Given the description of an element on the screen output the (x, y) to click on. 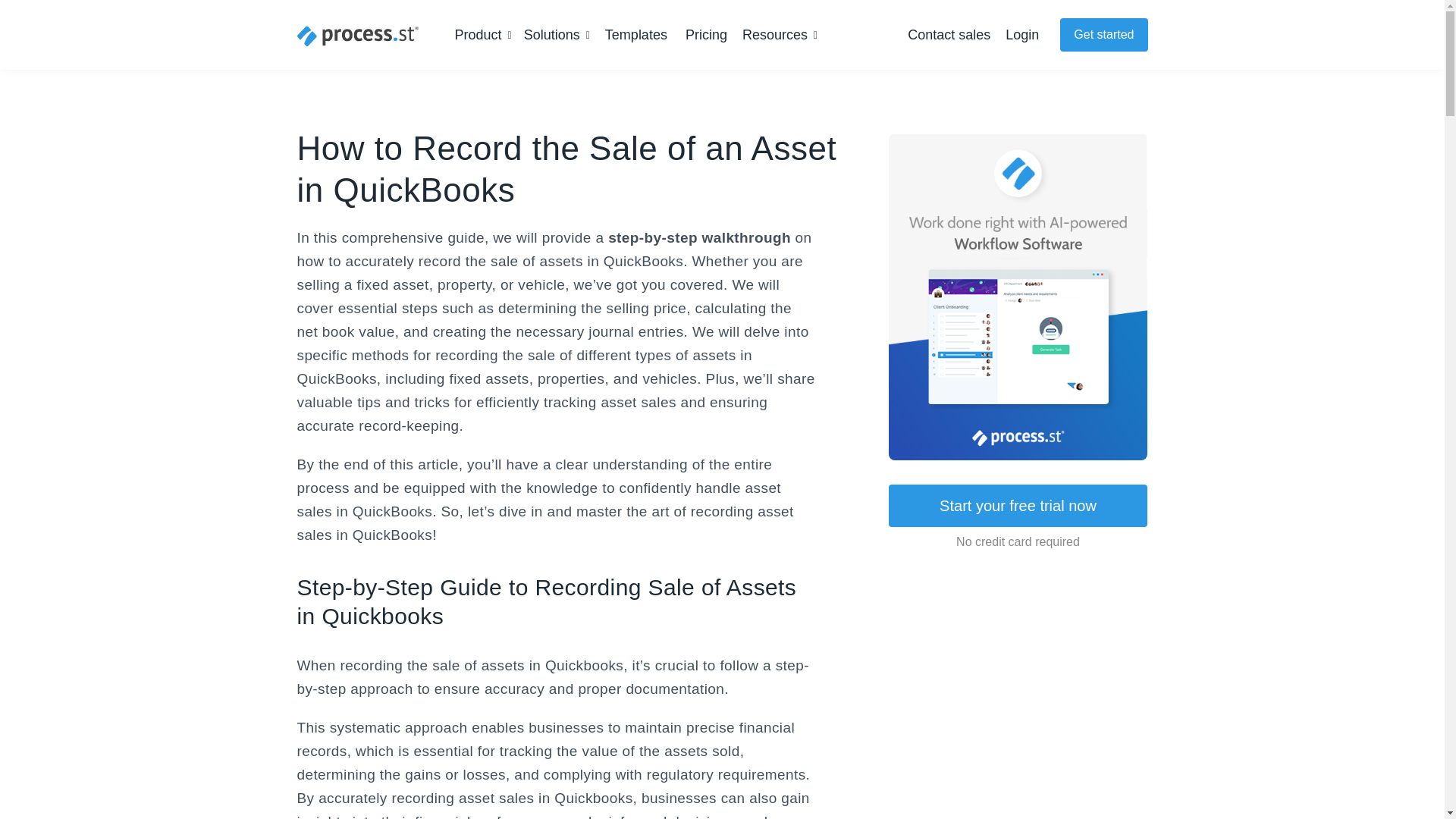
Try Process Street for free (1103, 34)
Process Street workflow templates (635, 34)
Process Street pricing (705, 34)
Contact sales (948, 34)
Get started (1103, 34)
Resources (779, 34)
Product (483, 34)
Solutions (556, 34)
Login (1022, 34)
Contact Process Street sales (948, 34)
